Given the description of an element on the screen output the (x, y) to click on. 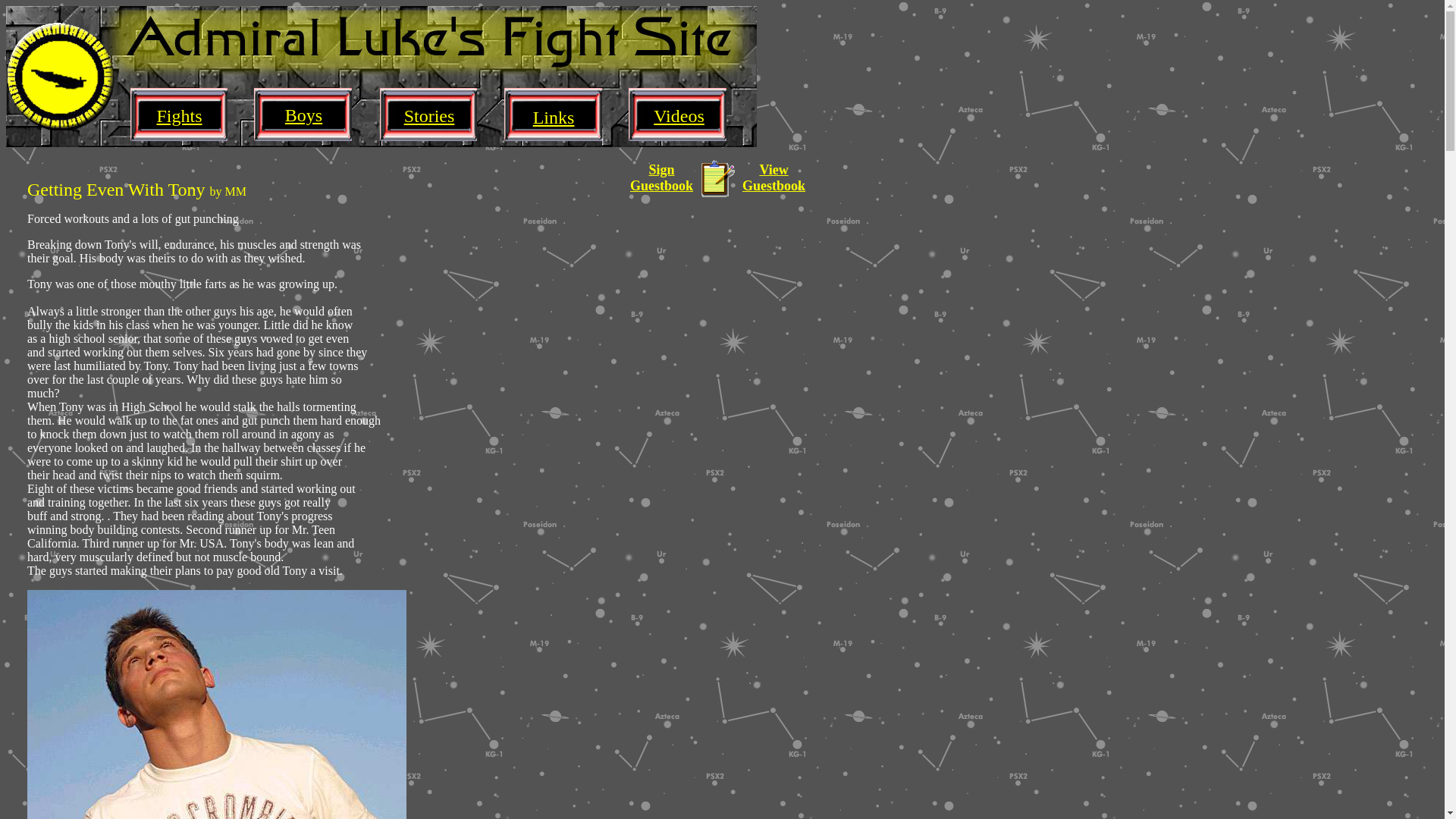
Stories (429, 116)
Videos (678, 116)
Fights (178, 116)
Links (553, 117)
Sign Guestbook (661, 177)
Boys (303, 115)
View Guestbook (773, 177)
